Given the description of an element on the screen output the (x, y) to click on. 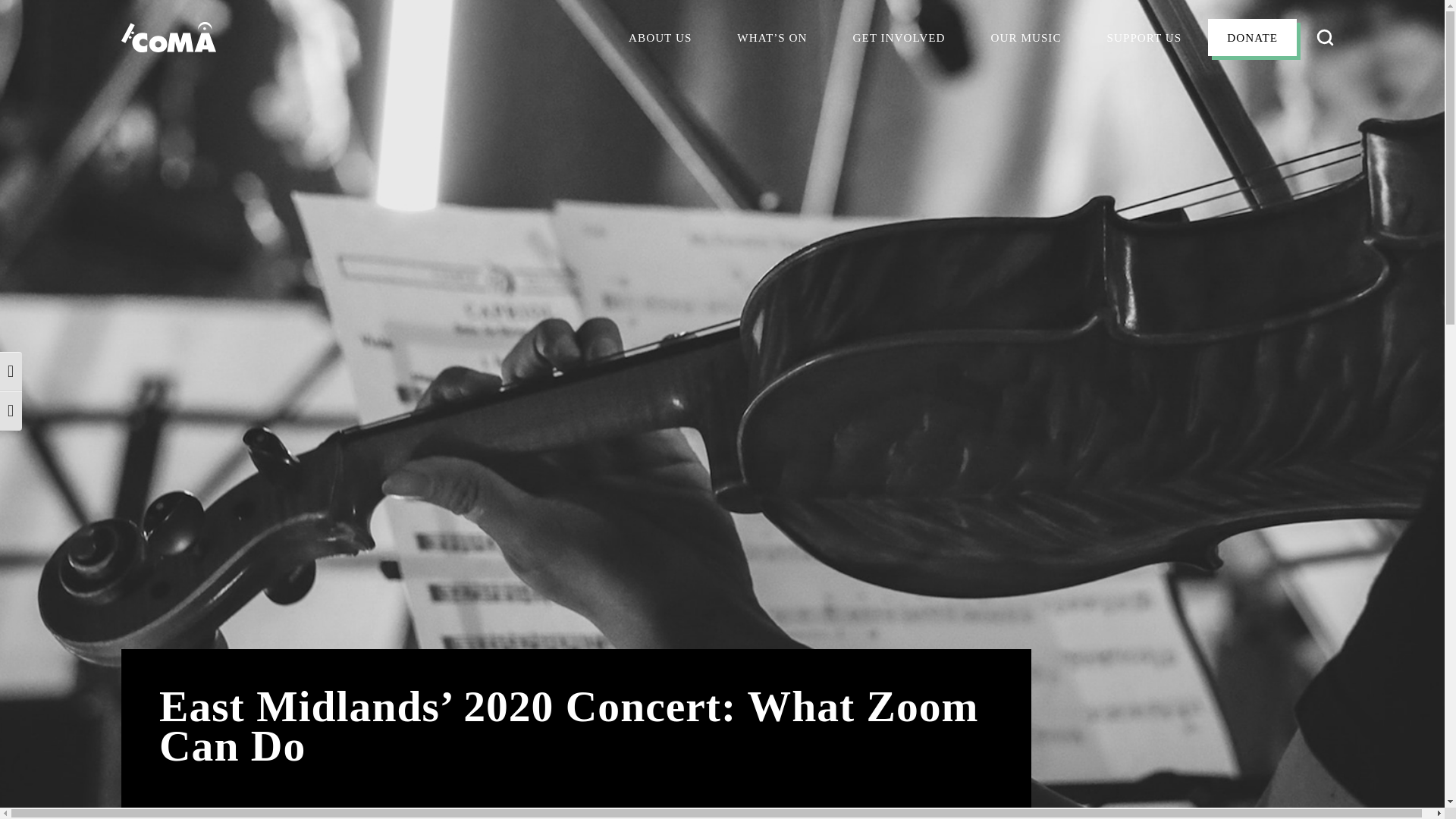
OUR MUSIC (1026, 37)
CoMA Festival 2024! (800, 130)
EVENT ARCHIVE (784, 164)
OUR RESOURCES (678, 133)
ABOUT OUR MUSIC (1047, 81)
DONATE (1252, 37)
Contact us (665, 168)
OUR HISTORY (669, 81)
COMA FESTIVAL 2024! (800, 130)
About us (659, 37)
